Given the description of an element on the screen output the (x, y) to click on. 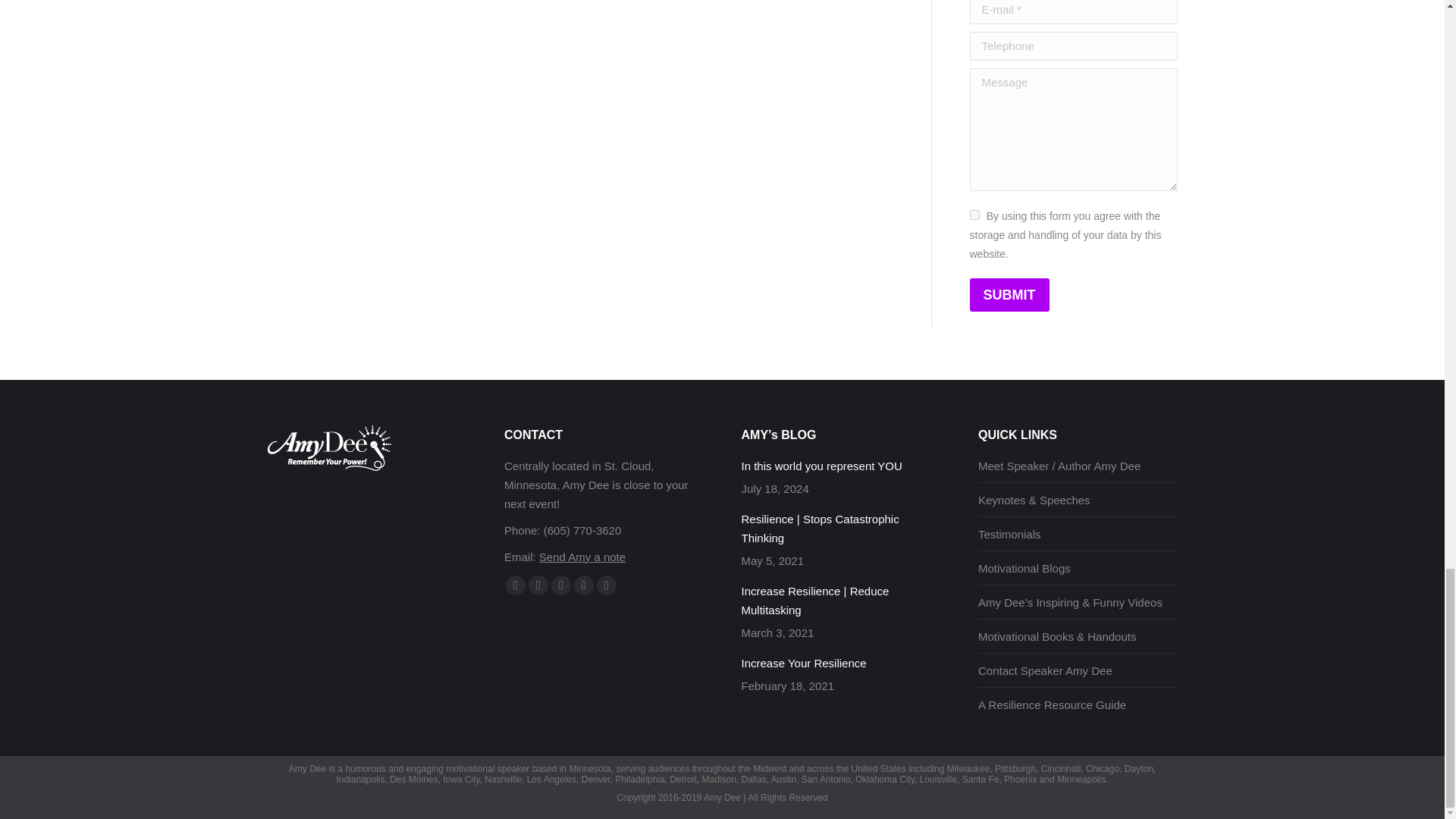
Instagram page opens in new window (605, 585)
Linkedin page opens in new window (583, 585)
submit (1098, 296)
YouTube page opens in new window (560, 585)
Twitter page opens in new window (538, 585)
Facebook page opens in new window (515, 585)
on (973, 214)
